Given the description of an element on the screen output the (x, y) to click on. 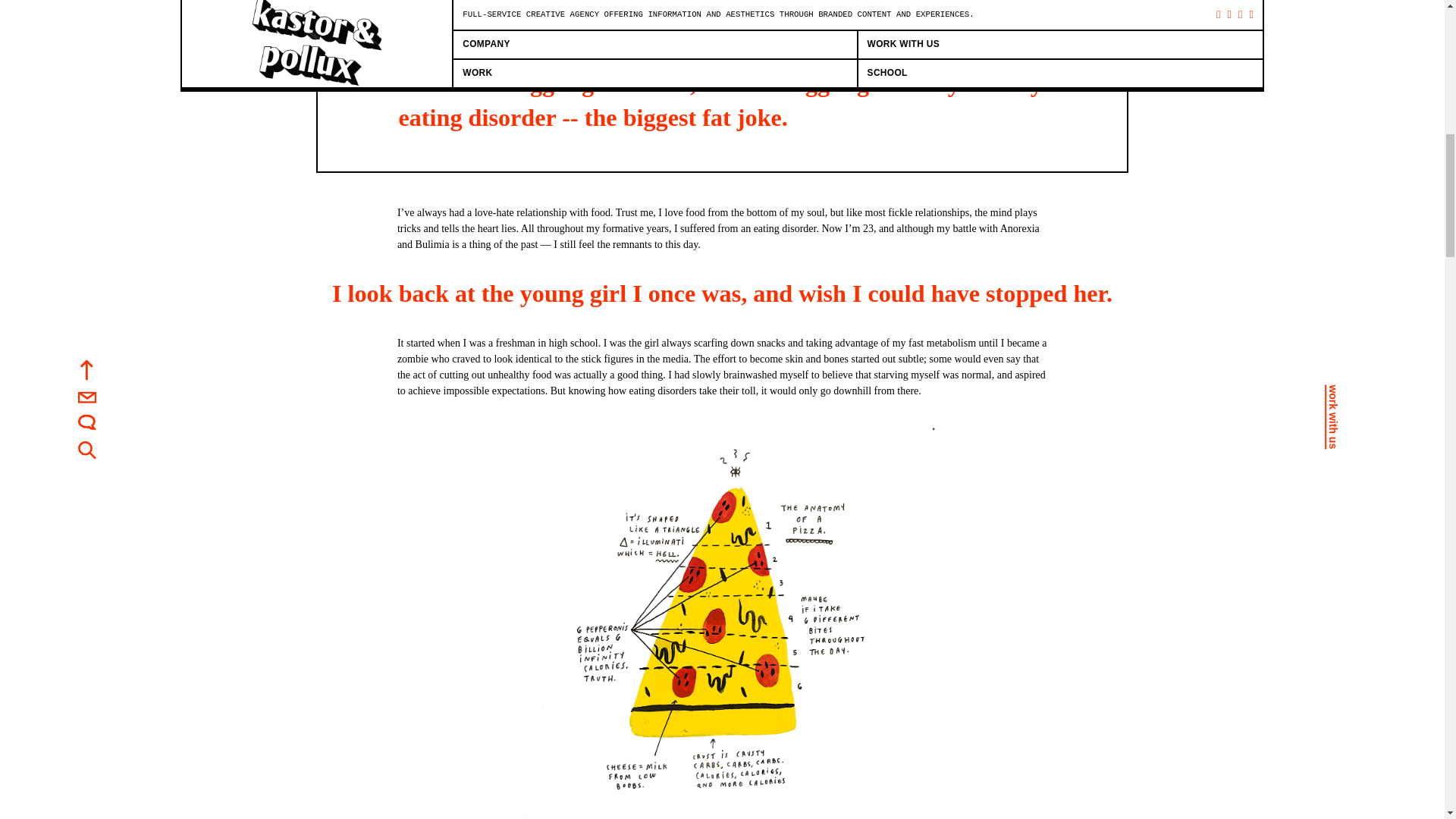
Posts by Zet Gold (413, 10)
